Given the description of an element on the screen output the (x, y) to click on. 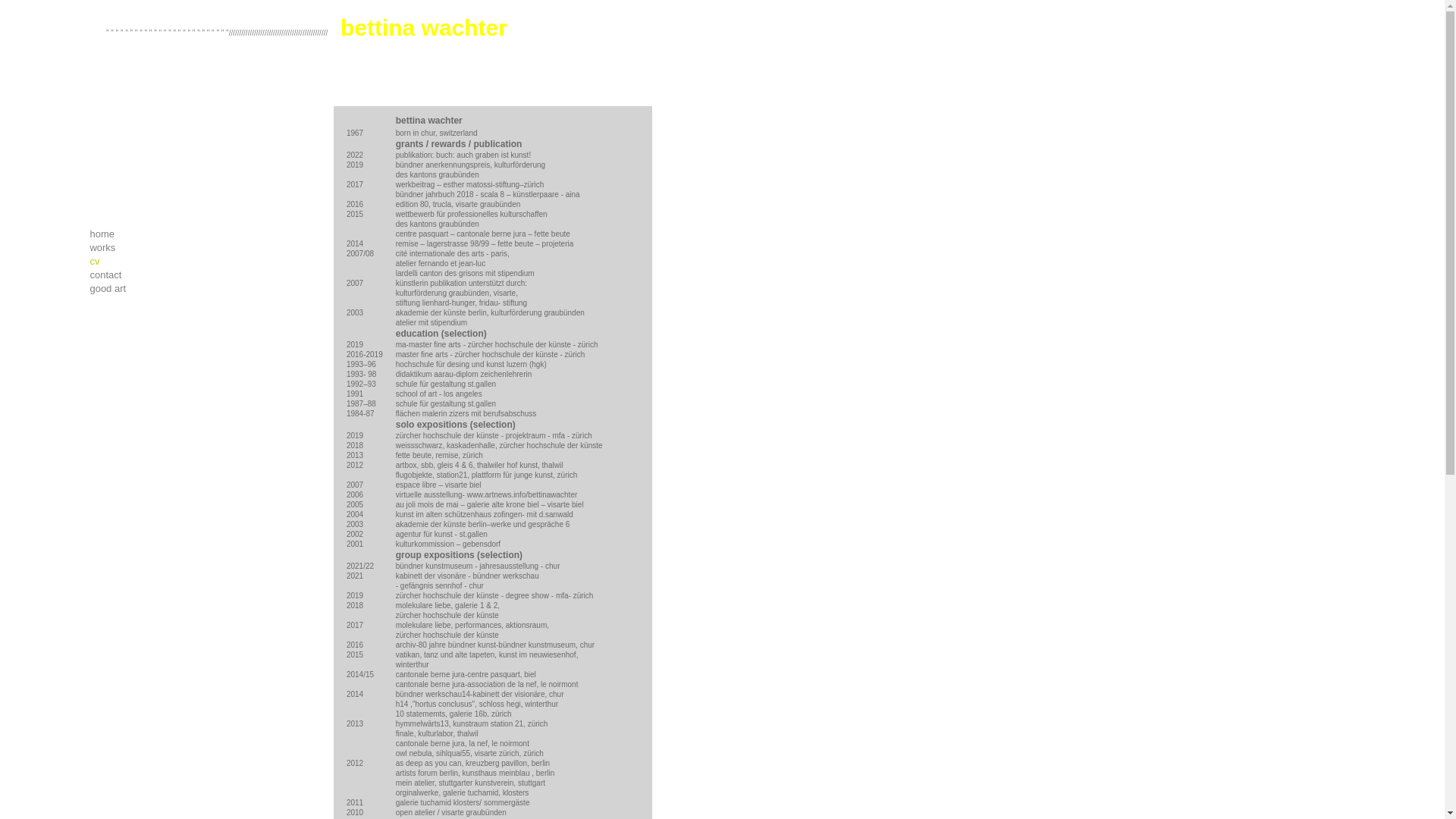
works Element type: text (158, 247)
contact Element type: text (158, 275)
good art Element type: text (158, 288)
home Element type: text (158, 234)
